Given the description of an element on the screen output the (x, y) to click on. 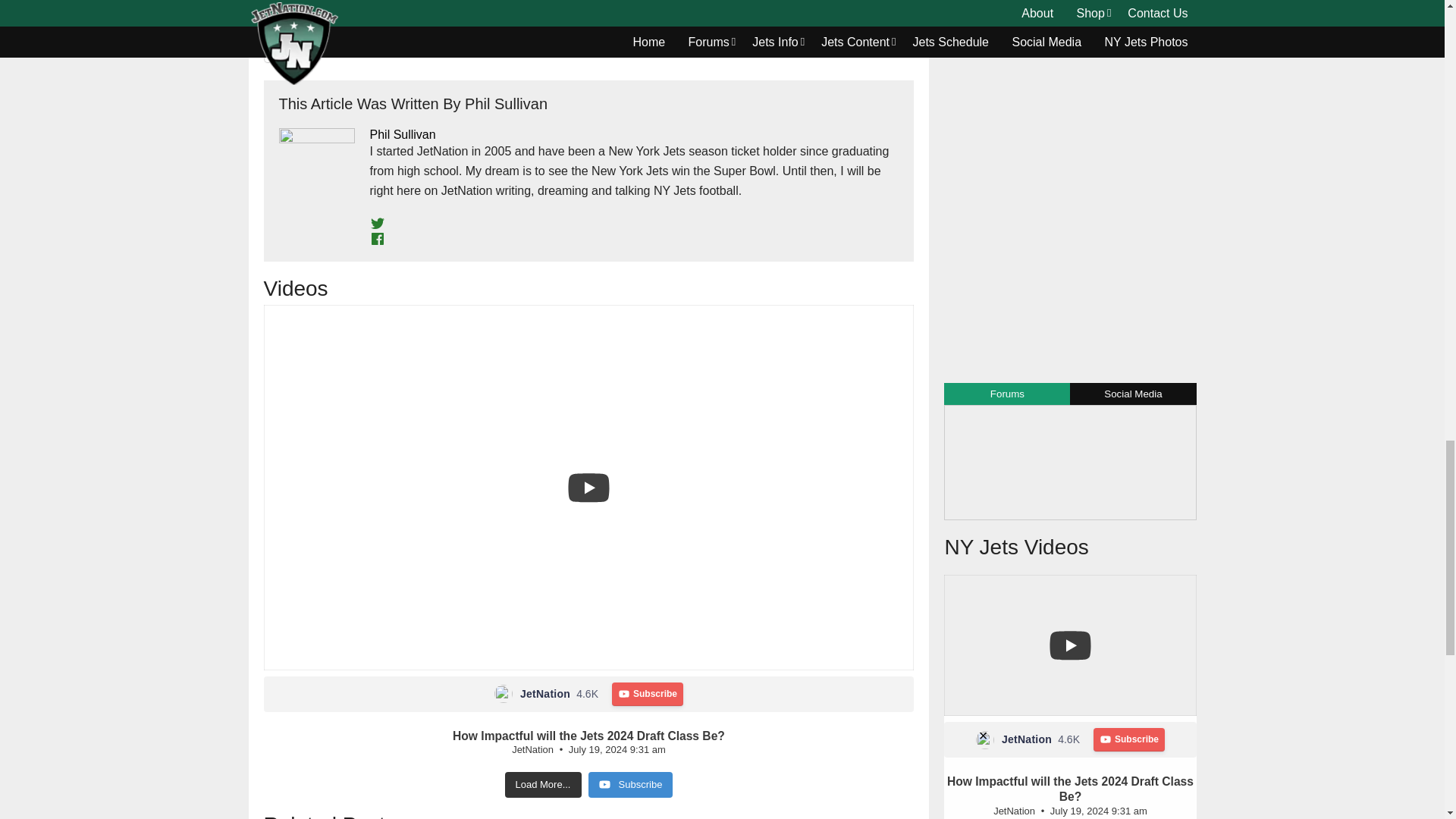
Like or Reblog (588, 59)
